Given the description of an element on the screen output the (x, y) to click on. 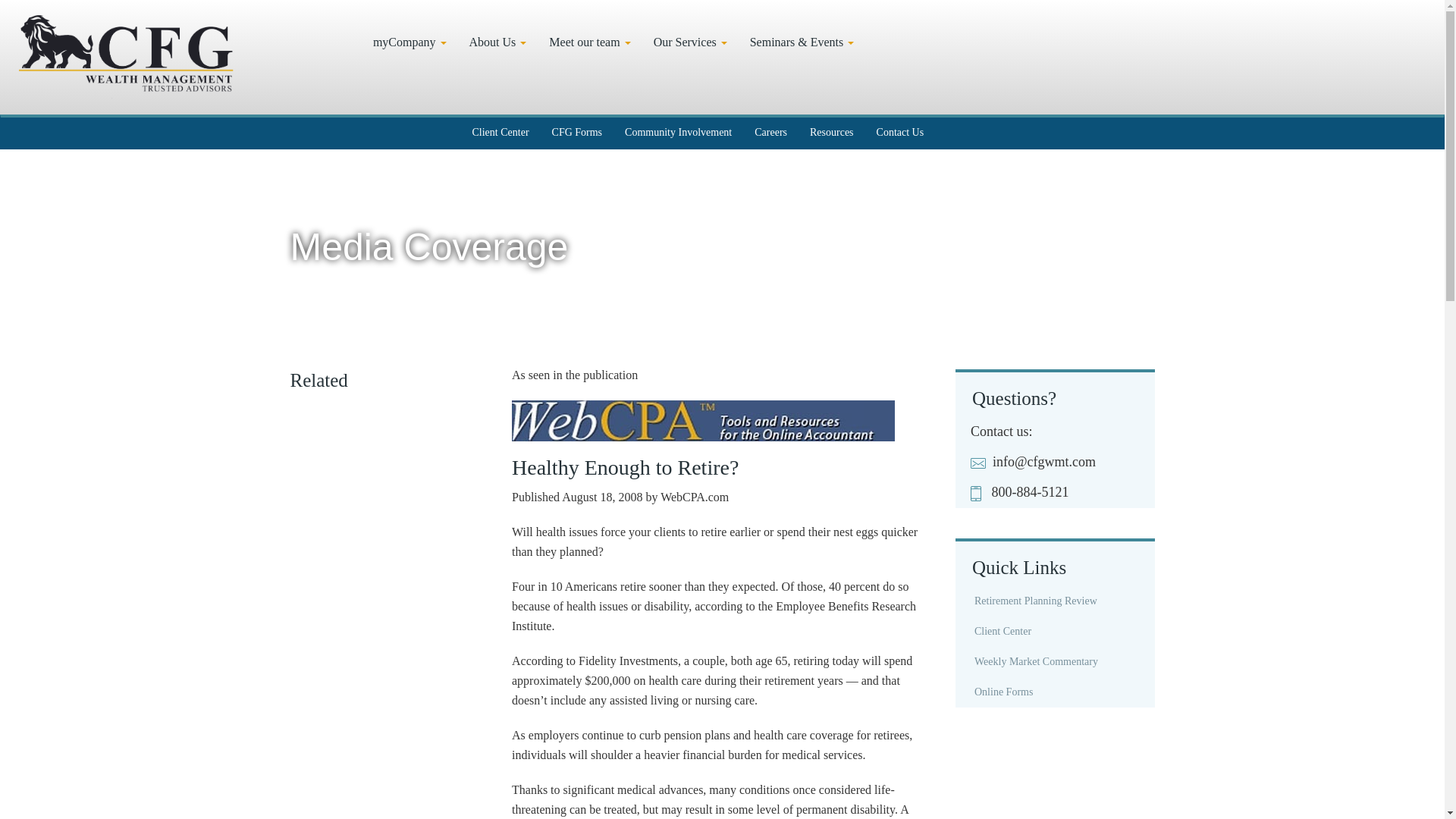
Careers (769, 131)
CFG Forms (577, 131)
Client Center (500, 131)
Skip to content (43, 21)
Our Services (690, 41)
Meet our team (589, 41)
Resources (830, 131)
Skip to content (43, 21)
myCompany (409, 41)
About Us (498, 41)
